Given the description of an element on the screen output the (x, y) to click on. 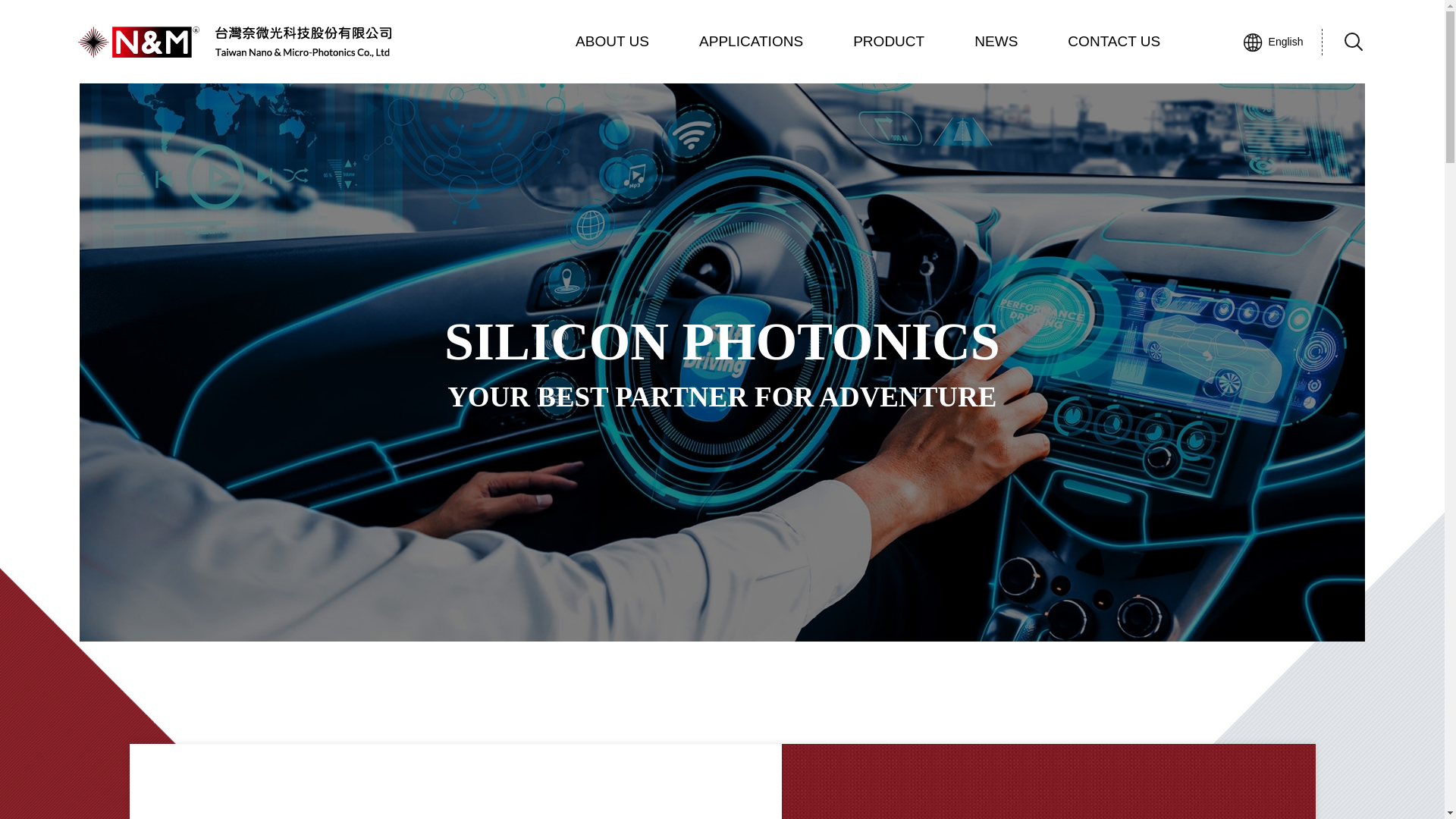
Product (888, 41)
PRODUCT (888, 41)
ABOUT US (995, 41)
Applications (612, 41)
About Us (750, 41)
English (612, 41)
NEWS (1273, 41)
CONTACT US (995, 41)
APPLICATIONS (1113, 41)
Contact us (750, 41)
